Given the description of an element on the screen output the (x, y) to click on. 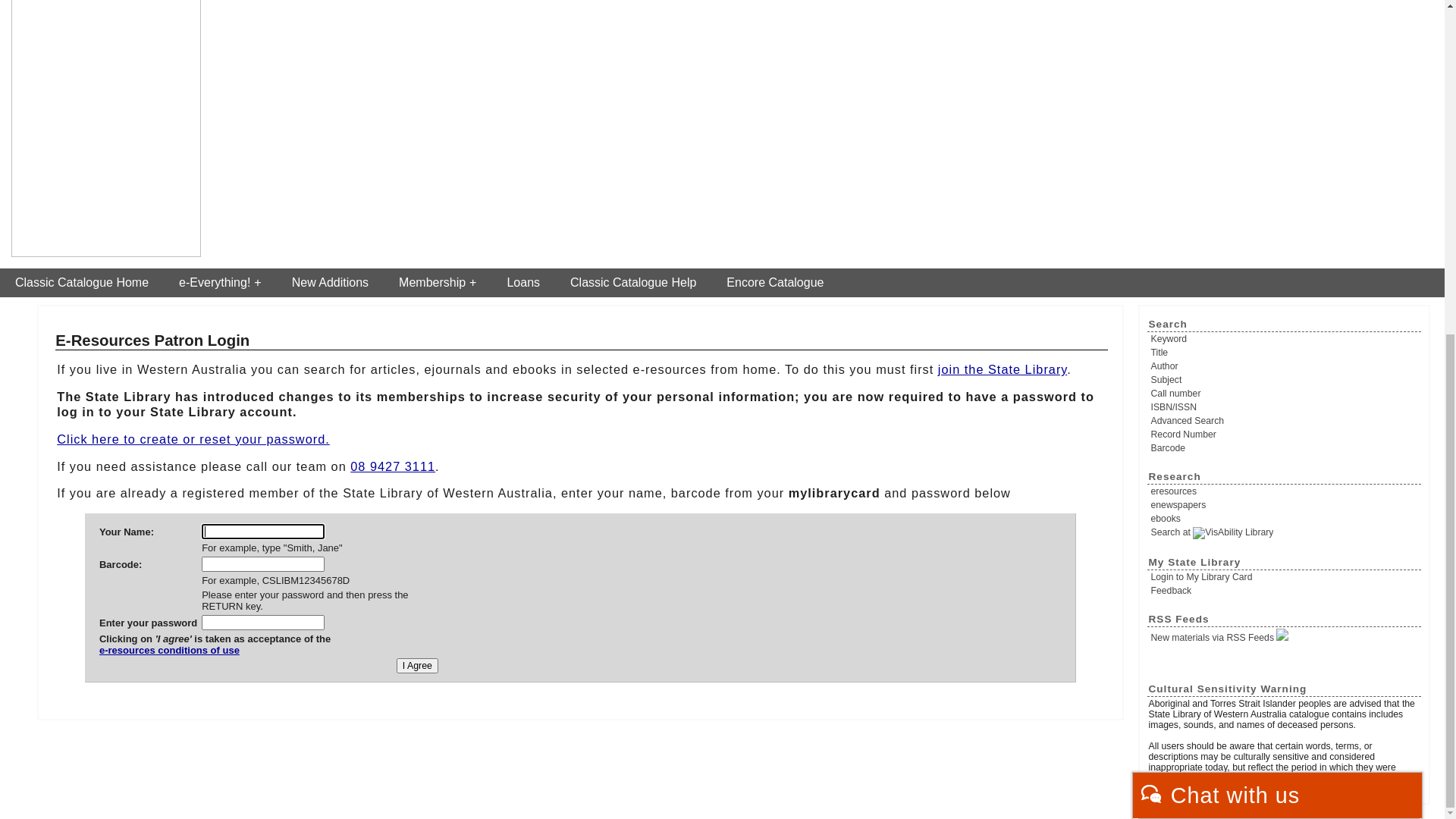
Help Element type: text (1300, 26)
Home Element type: text (1267, 26)
Login to My Library Card Element type: text (1377, 26)
